Given the description of an element on the screen output the (x, y) to click on. 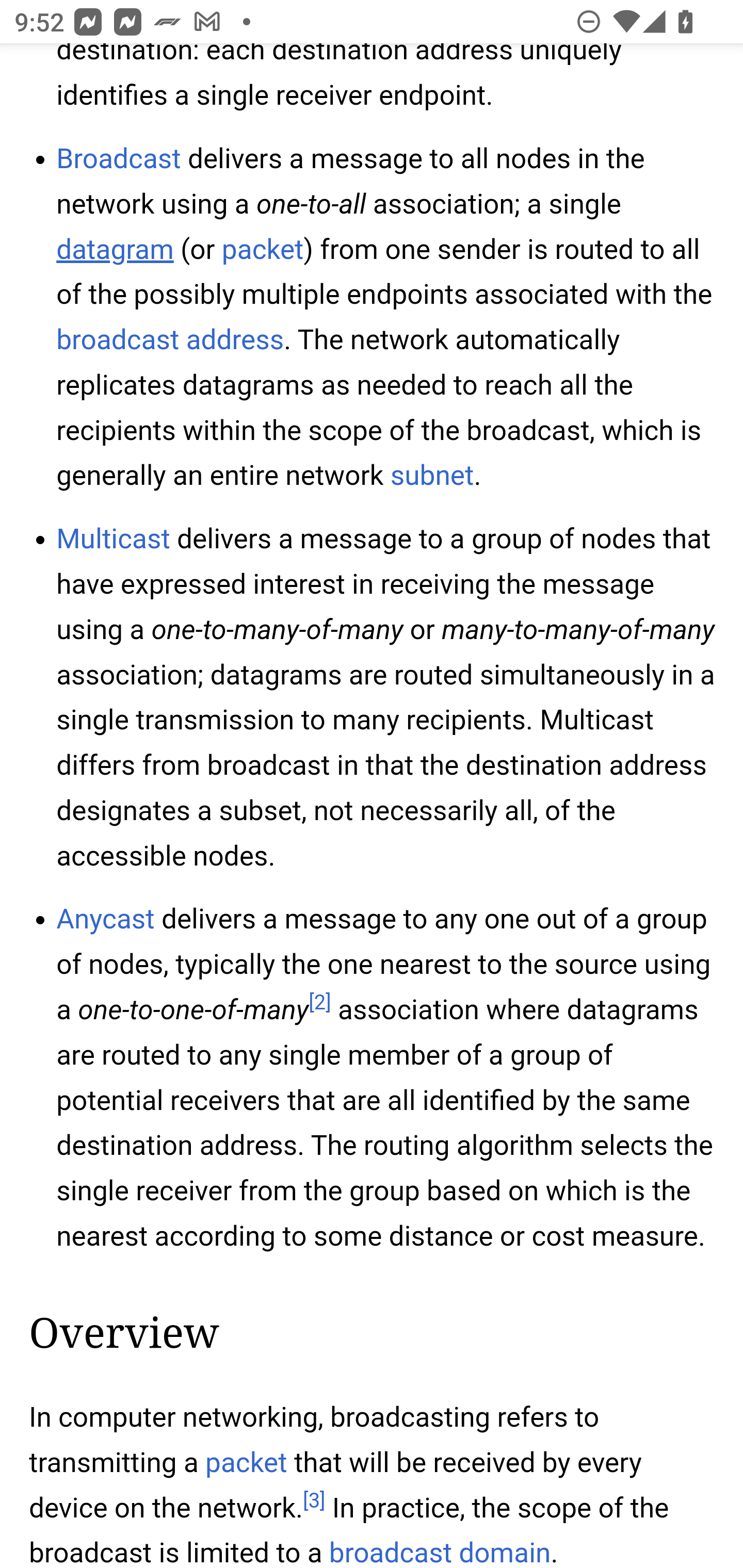
Broadcast (118, 159)
datagram (114, 251)
packet (262, 251)
broadcast address (170, 341)
subnet (432, 476)
Multicast (113, 540)
Anycast (105, 921)
[] [ 2 ] (319, 1003)
packet (246, 1464)
[] [ 3 ] (313, 1501)
broadcast domain (440, 1553)
